Given the description of an element on the screen output the (x, y) to click on. 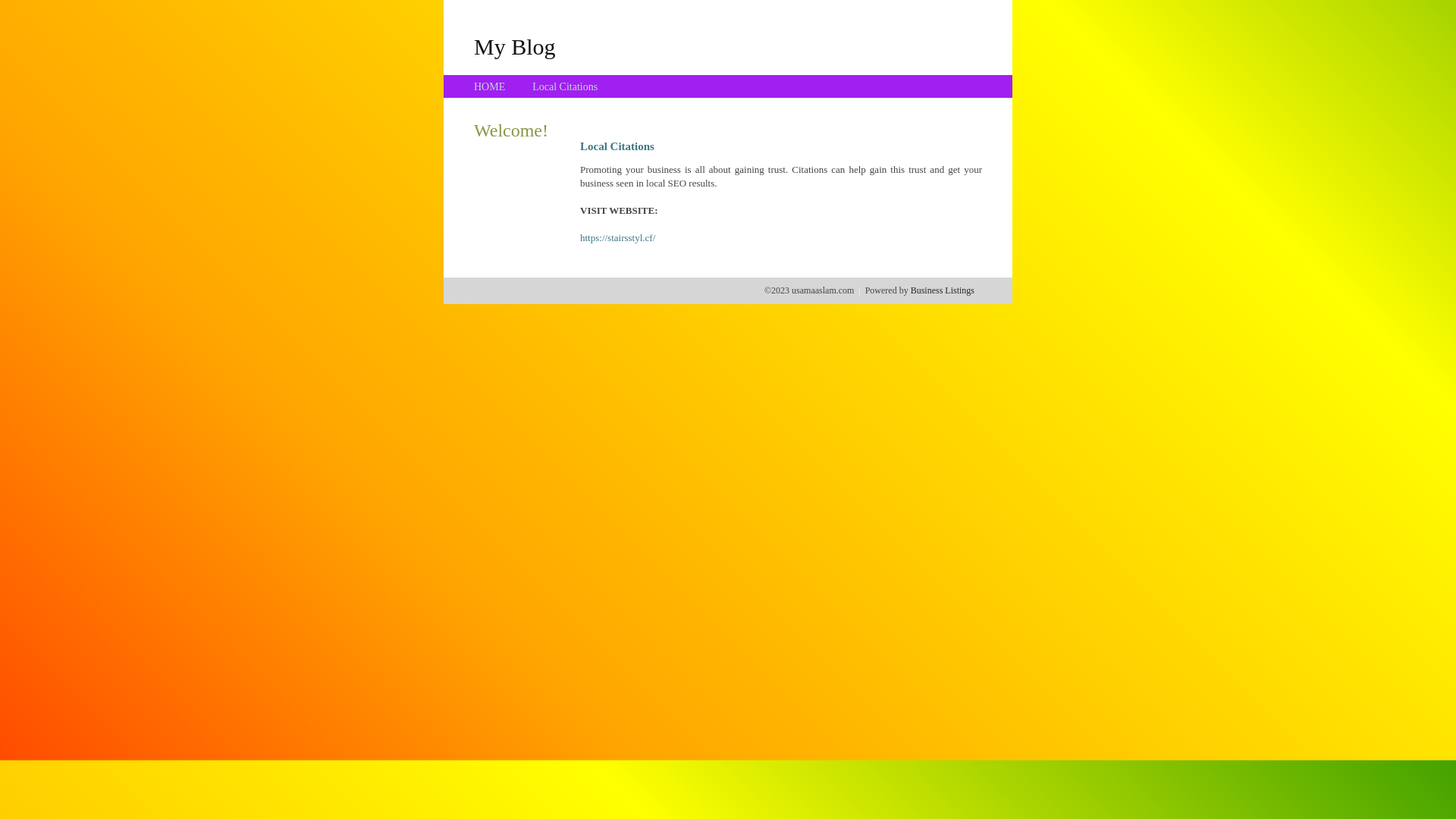
HOME Element type: text (489, 86)
My Blog Element type: text (514, 46)
Business Listings Element type: text (942, 290)
Local Citations Element type: text (564, 86)
https://stairsstyl.cf/ Element type: text (617, 237)
